Given the description of an element on the screen output the (x, y) to click on. 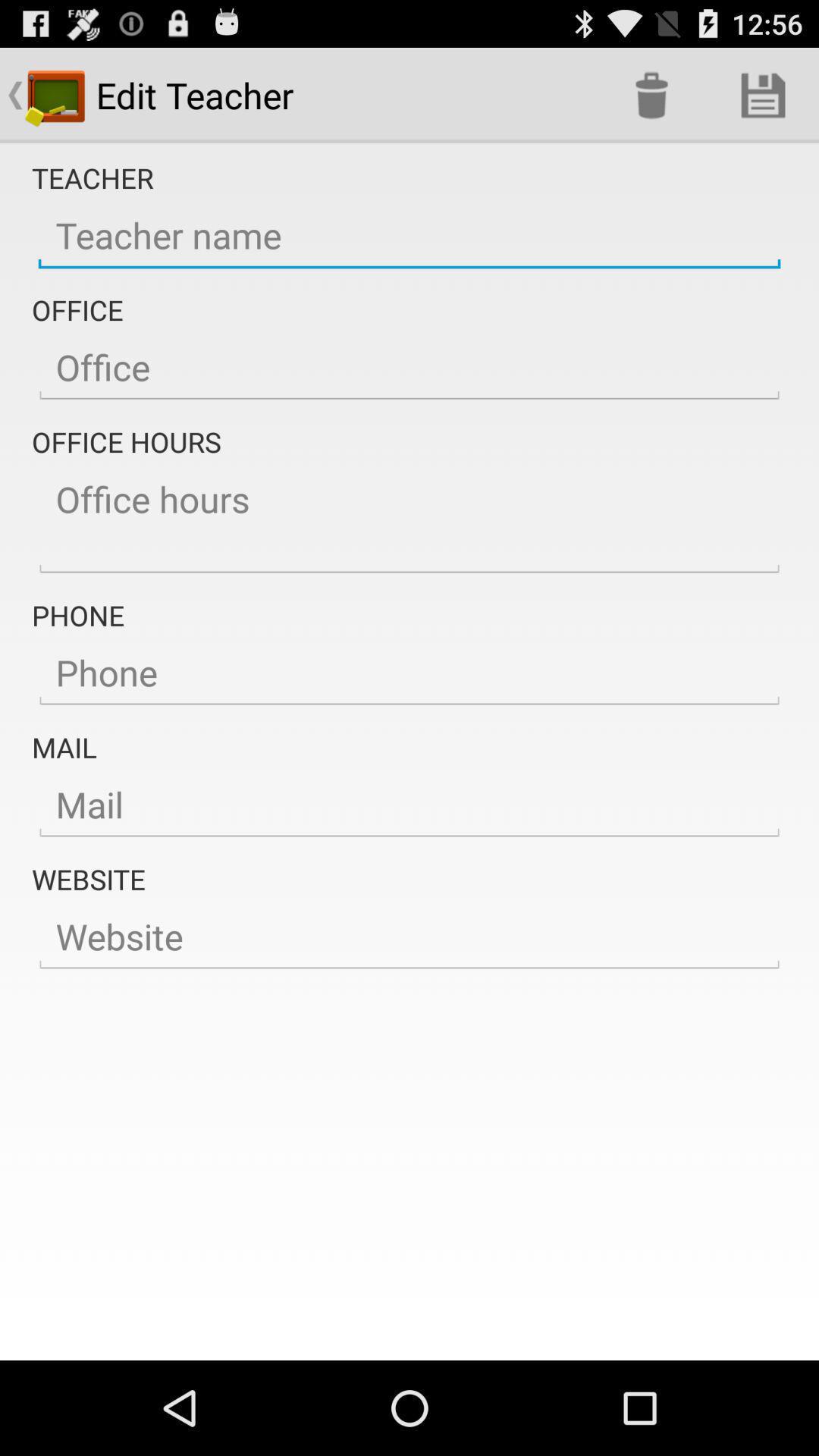
enter the office (409, 367)
